Given the description of an element on the screen output the (x, y) to click on. 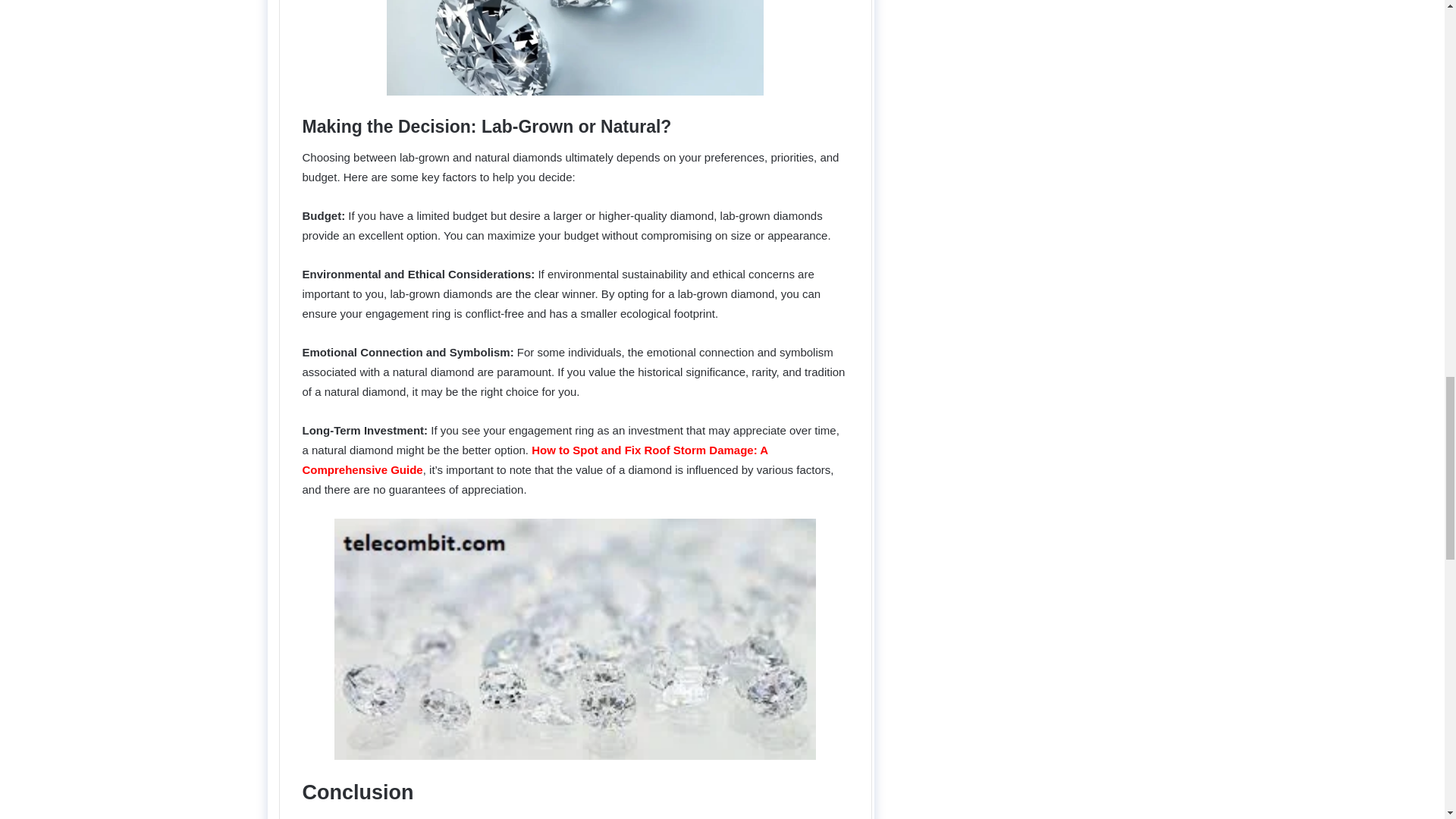
How to Spot and Fix Roof Storm Damage: A Comprehensive Guide (534, 459)
